Given the description of an element on the screen output the (x, y) to click on. 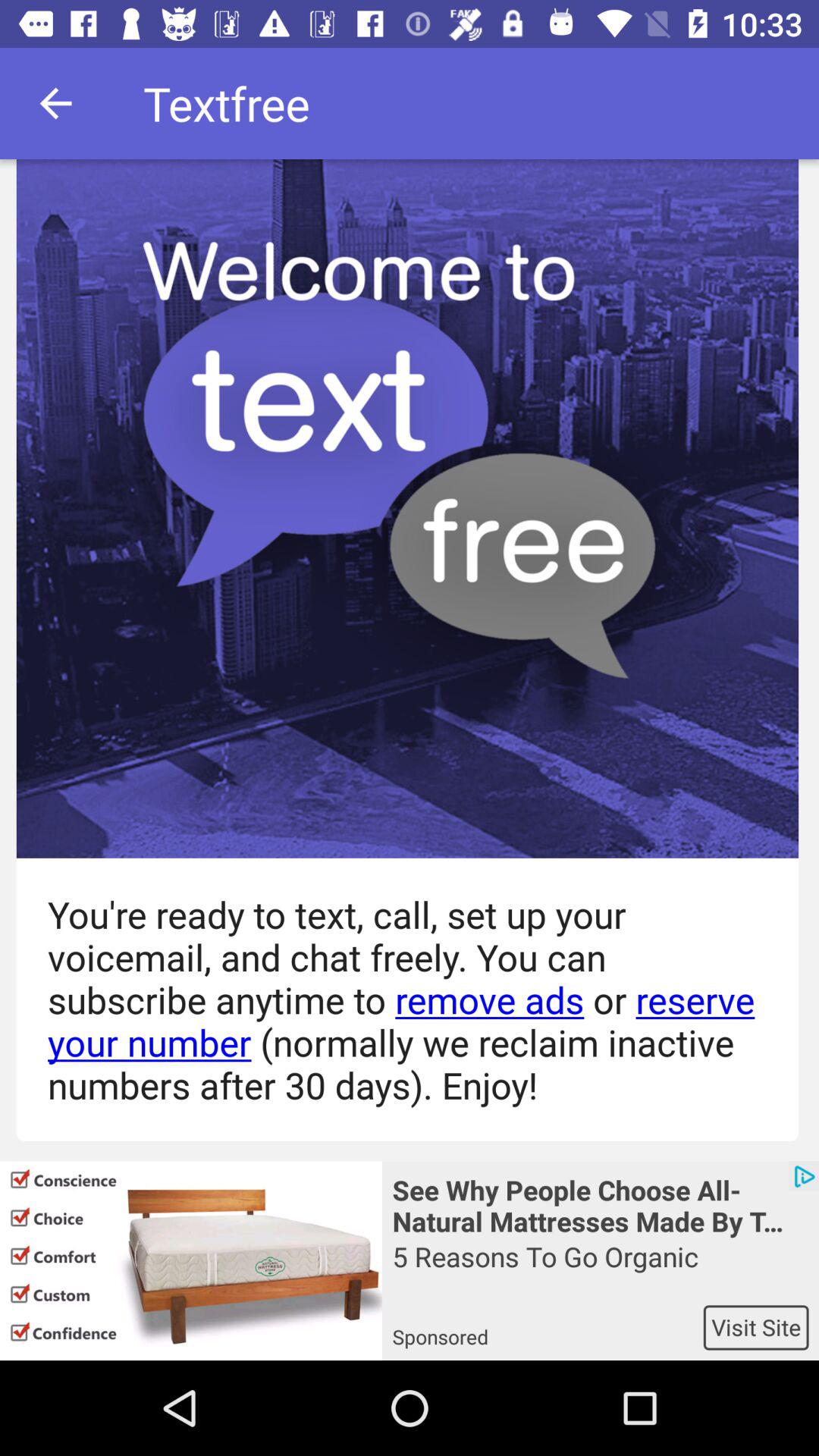
open the item next to the textfree (55, 103)
